Given the description of an element on the screen output the (x, y) to click on. 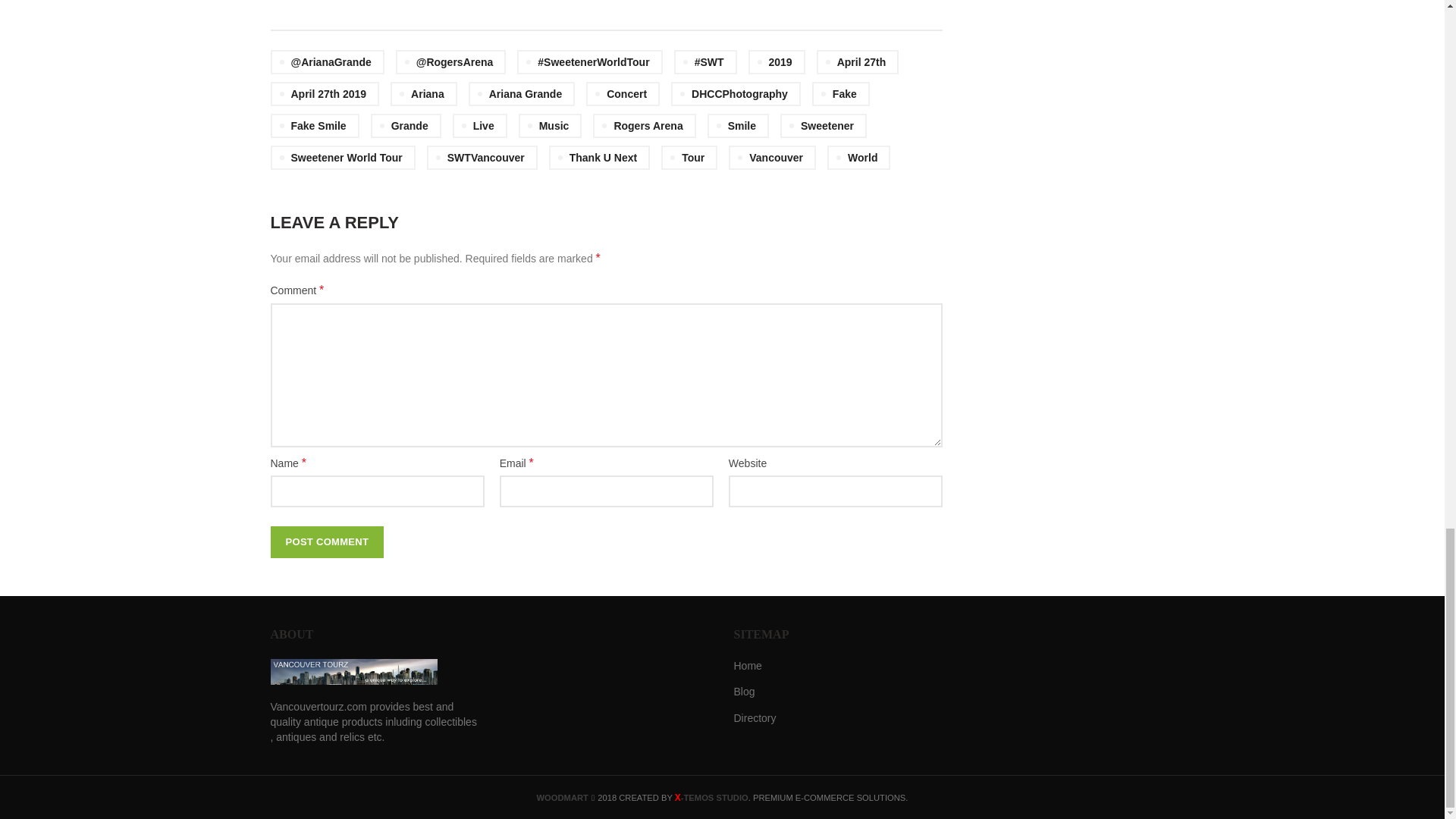
Ariana (423, 93)
Grande (406, 125)
Ariana Grande (521, 93)
Vancouver (772, 157)
Sweetener (823, 125)
Post Comment (326, 541)
Blog (745, 692)
Tour (689, 157)
Concert (622, 93)
World (858, 157)
Live (479, 125)
2019 (776, 61)
Home (747, 666)
Music (550, 125)
SWTVancouver (481, 157)
